Given the description of an element on the screen output the (x, y) to click on. 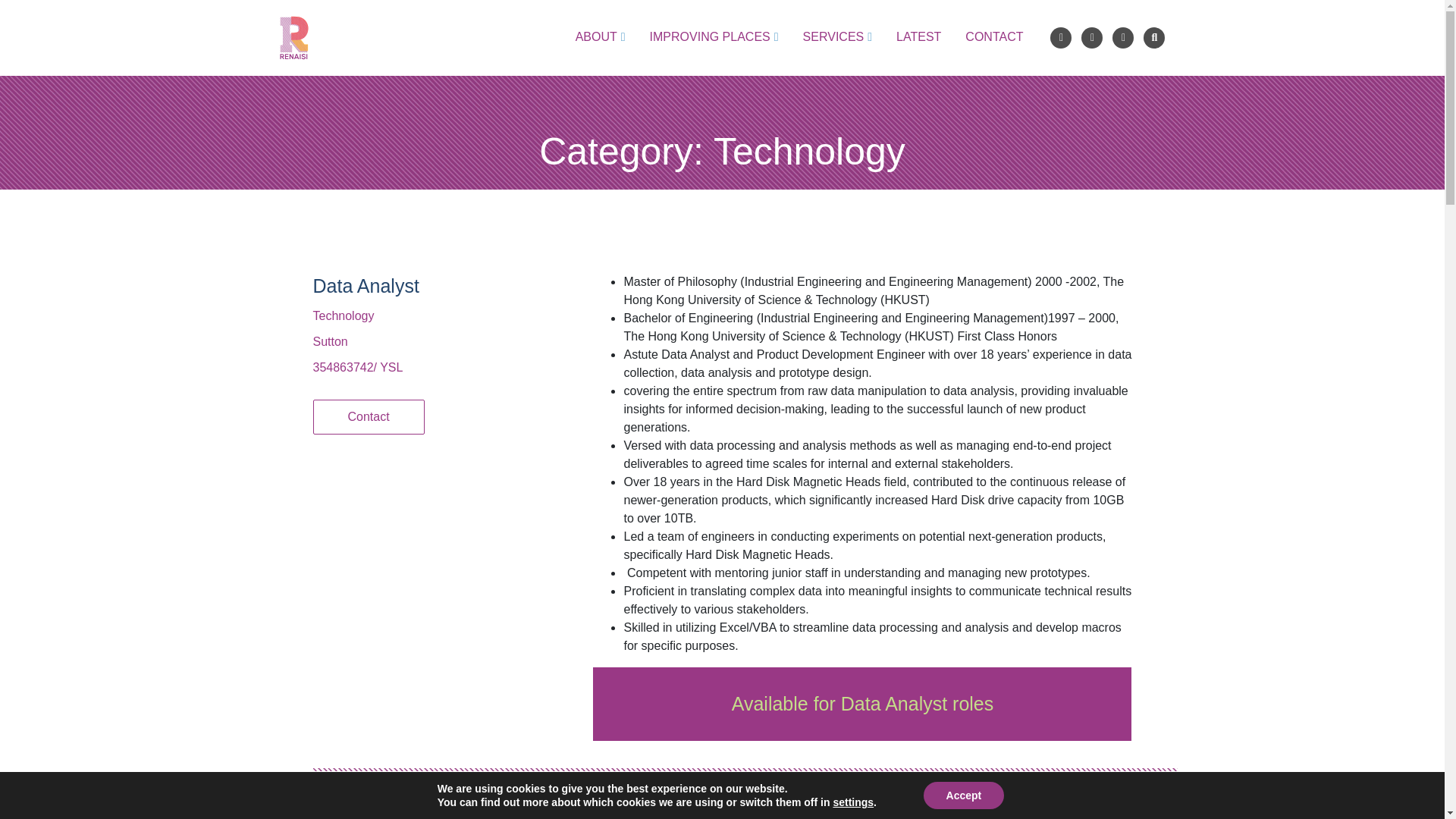
ABOUT (600, 36)
CONTACT (994, 36)
LATEST (918, 36)
SERVICES (837, 36)
IMPROVING PLACES (713, 36)
